Given the description of an element on the screen output the (x, y) to click on. 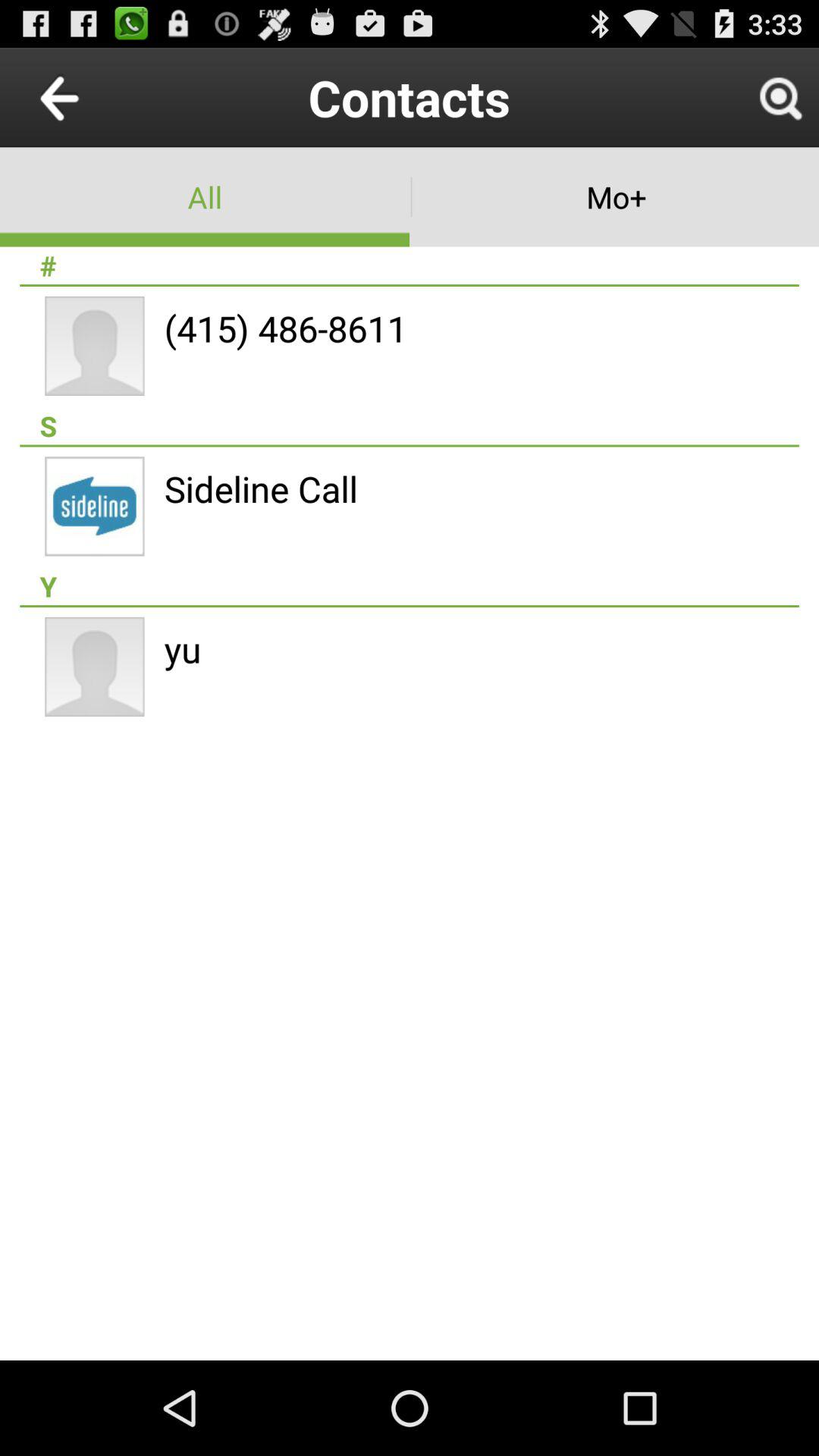
choose the item next to the contacts app (94, 97)
